Given the description of an element on the screen output the (x, y) to click on. 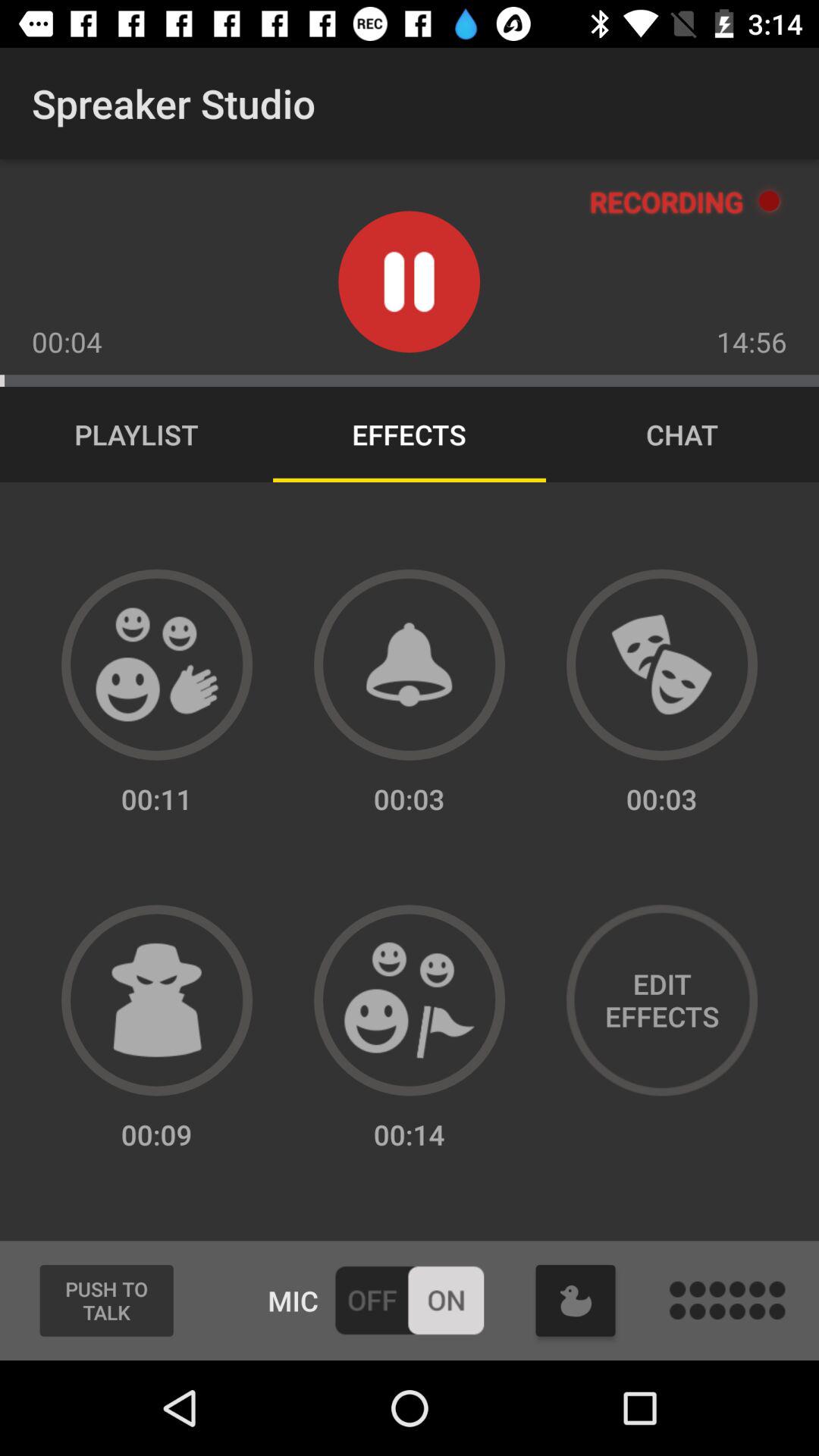
tap the item to the left of mic item (106, 1300)
